Given the description of an element on the screen output the (x, y) to click on. 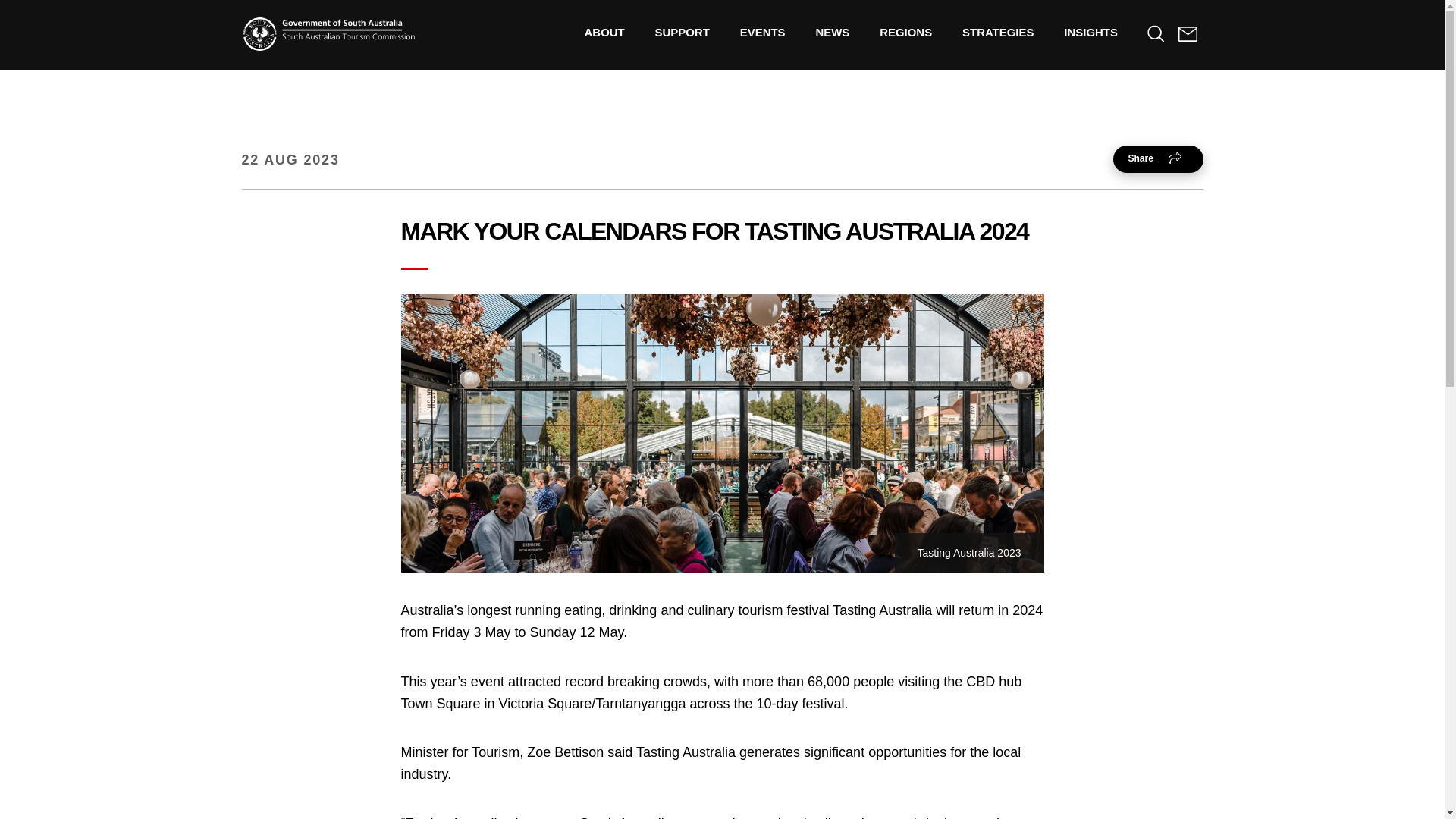
STRATEGIES (997, 31)
Insights (1090, 31)
REGIONS (905, 31)
NEWS (831, 31)
Events (762, 31)
Support (682, 31)
SUPPORT (682, 31)
INSIGHTS (1090, 31)
Strategies (997, 31)
About (604, 31)
